Given the description of an element on the screen output the (x, y) to click on. 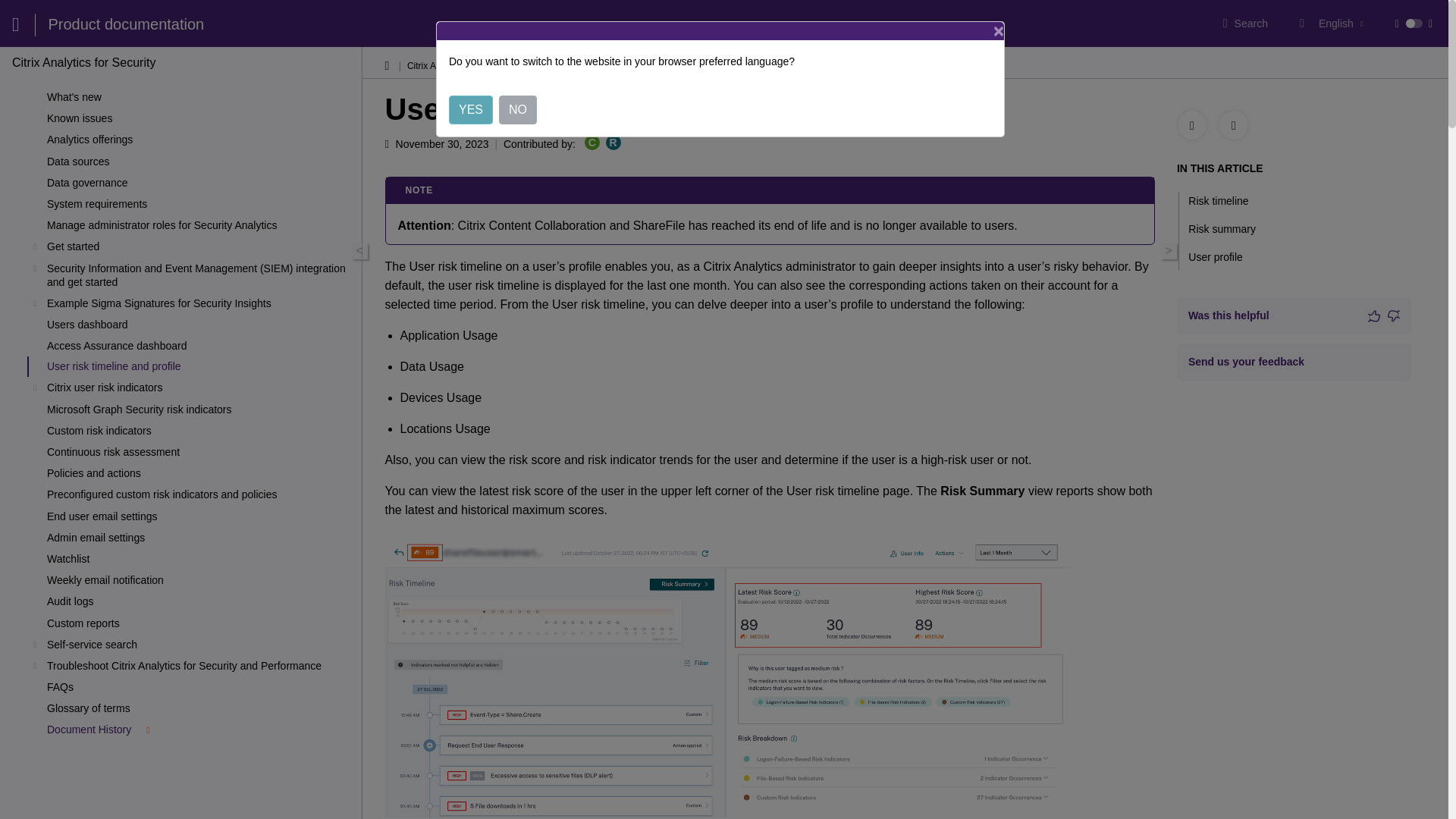
Data governance (200, 182)
Get started (200, 246)
System requirements (200, 203)
Analytics offerings (200, 139)
What's new (200, 97)
Search (1245, 23)
Example Sigma Signatures for Security Insights (200, 303)
Product documentation (126, 24)
Known issues (200, 118)
English (1337, 22)
